Given the description of an element on the screen output the (x, y) to click on. 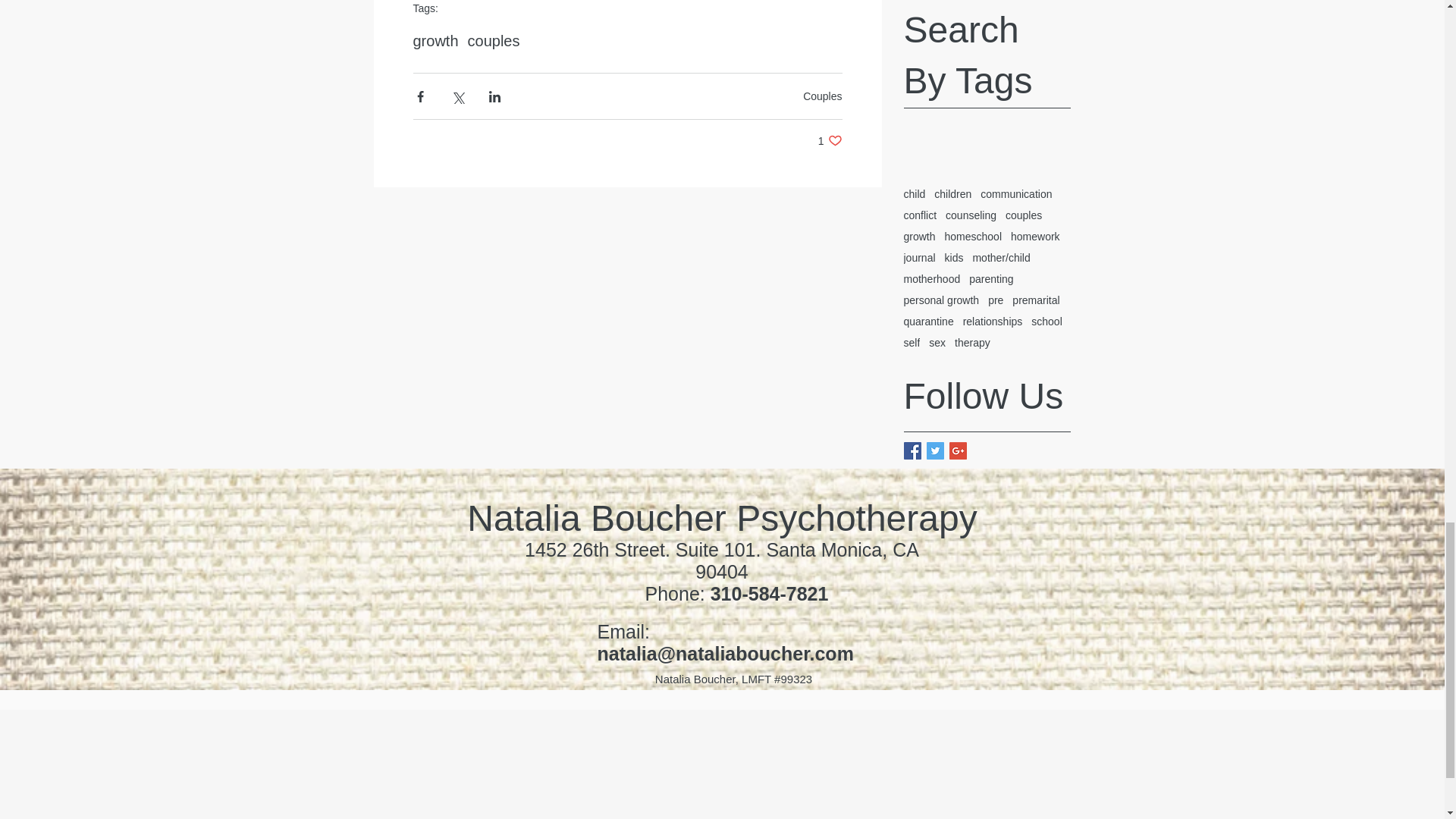
Couples (822, 96)
couples (493, 40)
growth (830, 140)
